Given the description of an element on the screen output the (x, y) to click on. 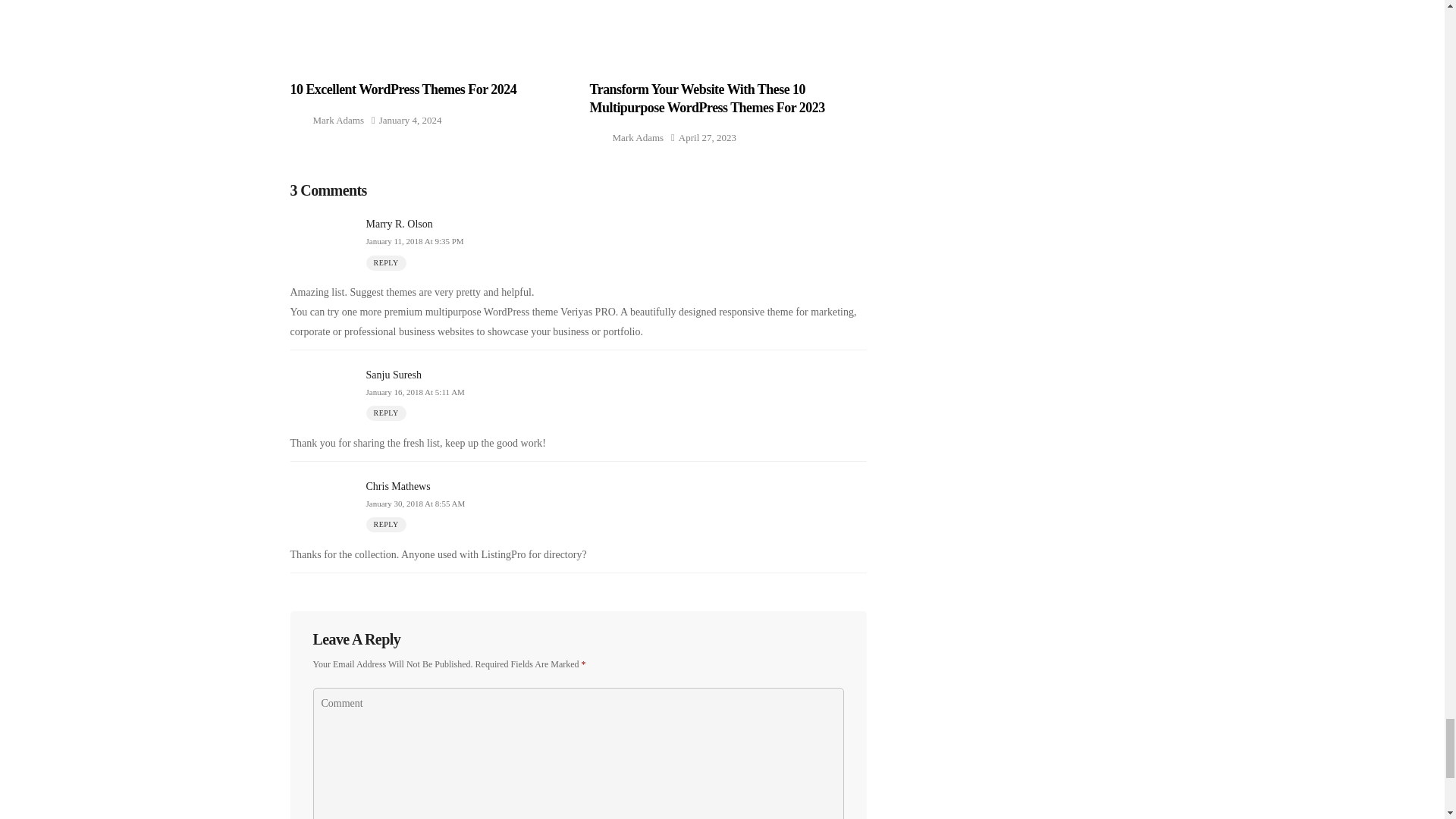
Posts by Mark Adams (338, 119)
10 Excellent WordPress Themes for 2024 (427, 31)
Posts by Mark Adams (637, 137)
